Given the description of an element on the screen output the (x, y) to click on. 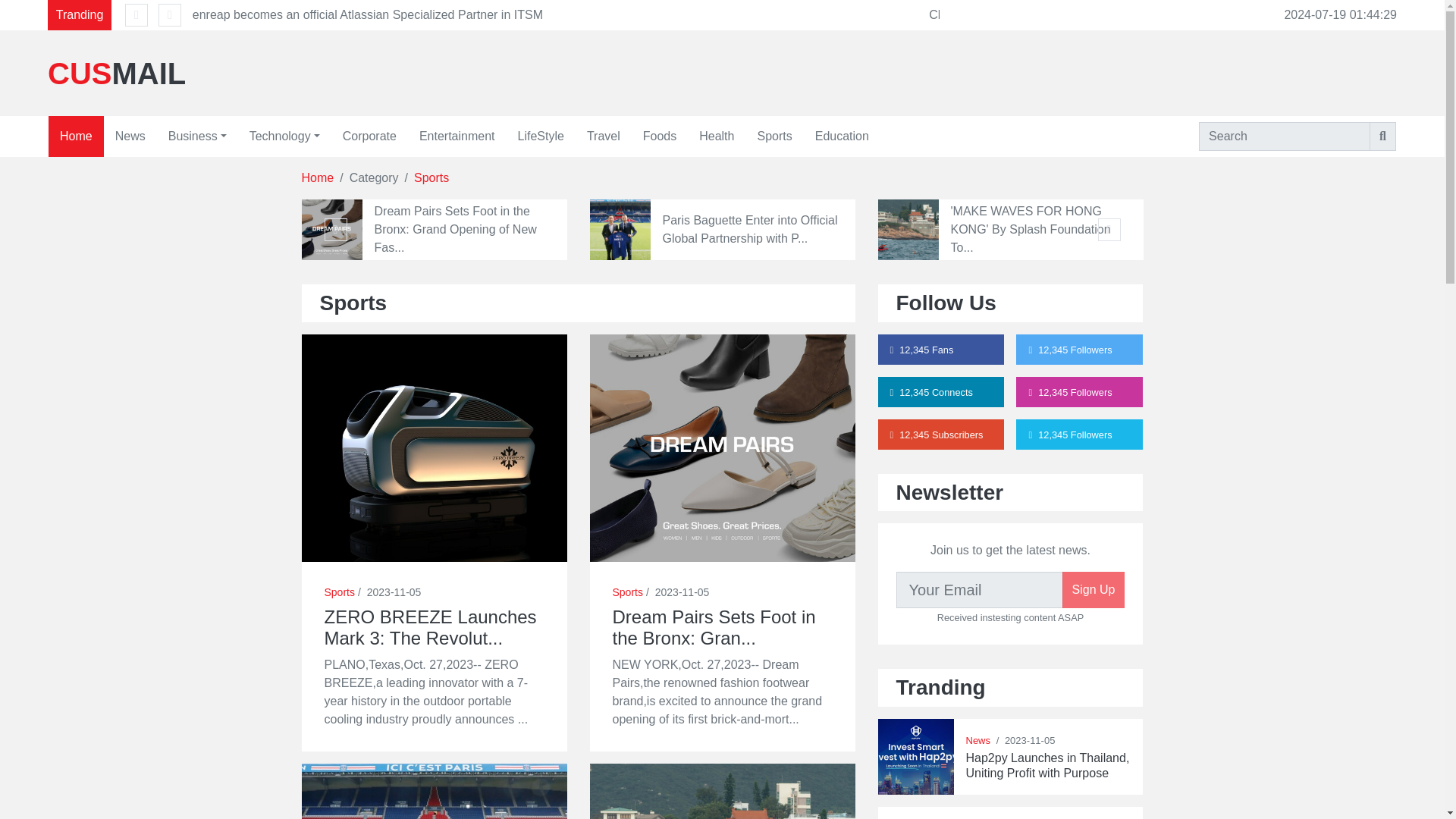
News (130, 136)
Business (197, 136)
Foods (659, 136)
Sports (774, 136)
Technology (284, 136)
LifeStyle (540, 136)
Home (75, 136)
Travel (603, 136)
Health (716, 136)
China's Miao embroidery dresses shine at Milan Fashion Week (1098, 14)
CUSMAIL (259, 73)
Entertainment (456, 136)
Education (841, 136)
Corporate (369, 136)
